Given the description of an element on the screen output the (x, y) to click on. 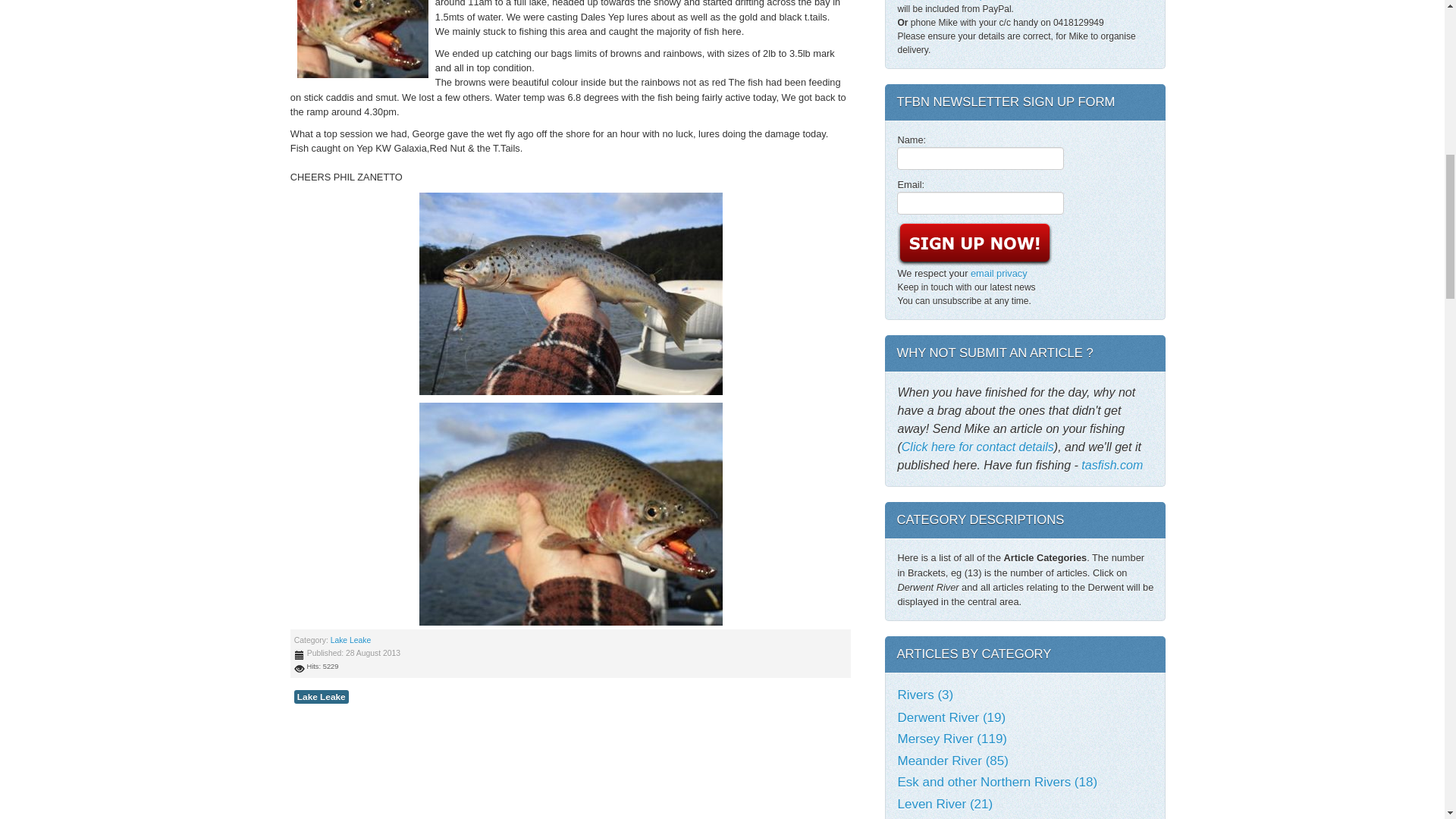
Contact Us (1069, 0)
Click here for contact details (977, 446)
Privacy Policy (999, 273)
Lake Leake (321, 696)
Lake Leake (350, 640)
tasfish.com (1111, 464)
email privacy (999, 273)
